Given the description of an element on the screen output the (x, y) to click on. 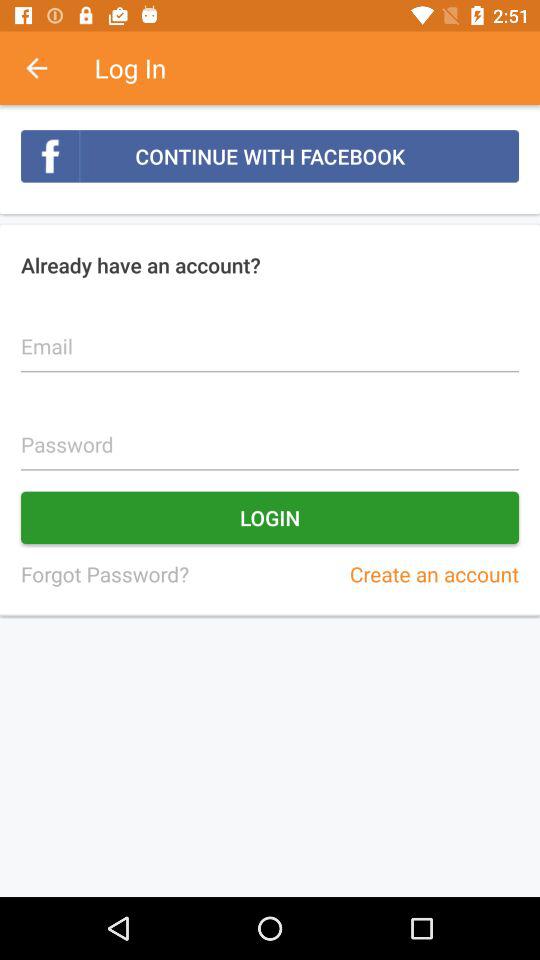
input information (270, 433)
